Given the description of an element on the screen output the (x, y) to click on. 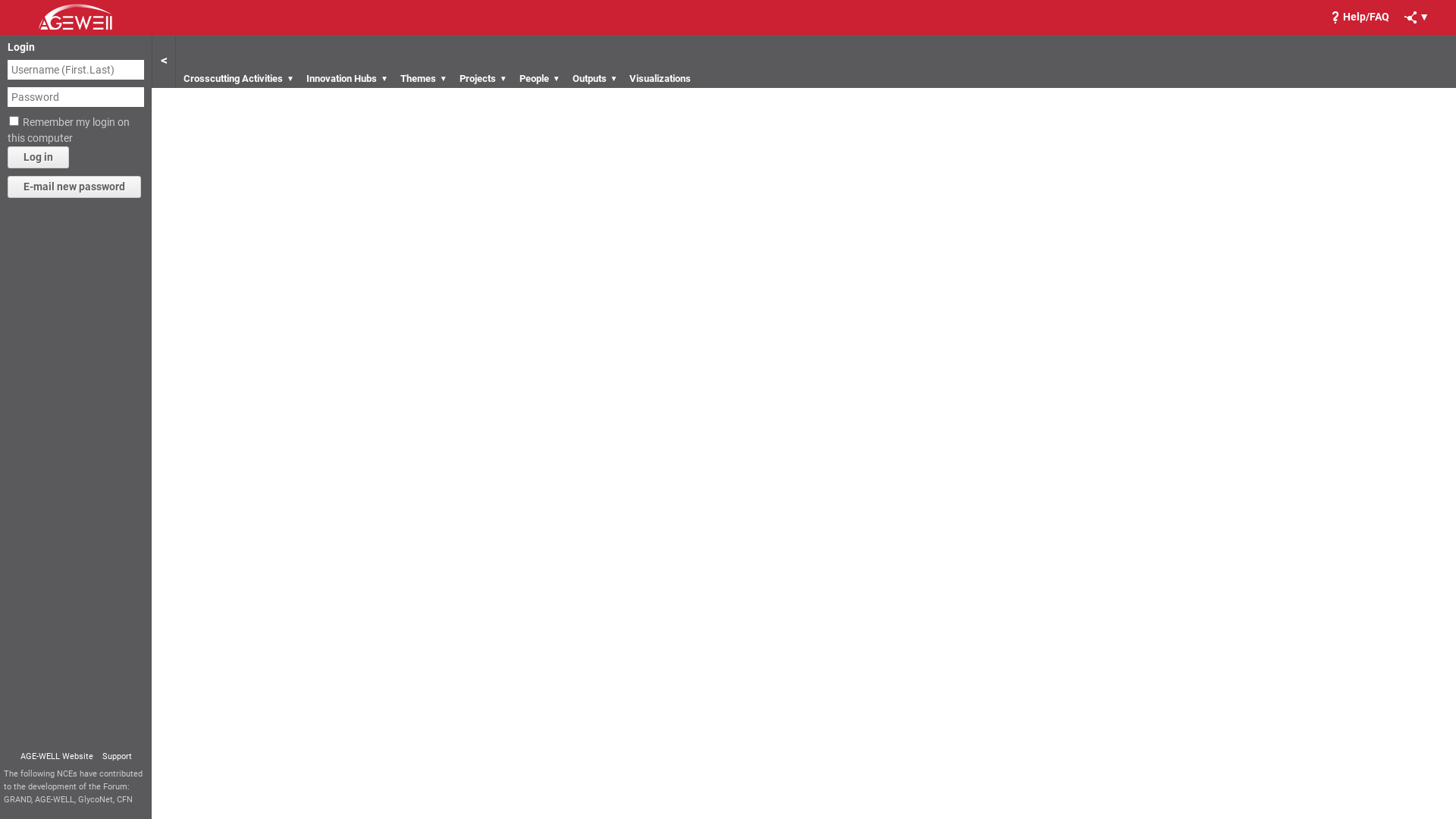
Log in Element type: text (38, 157)
Support Element type: text (116, 756)
AGE-WELL Forum Element type: hover (74, 15)
  Help/FAQ Element type: text (1360, 16)
AGE-WELL Website Element type: text (55, 756)
E-mail new password Element type: text (74, 186)
Visualizations Element type: text (659, 78)
